Given the description of an element on the screen output the (x, y) to click on. 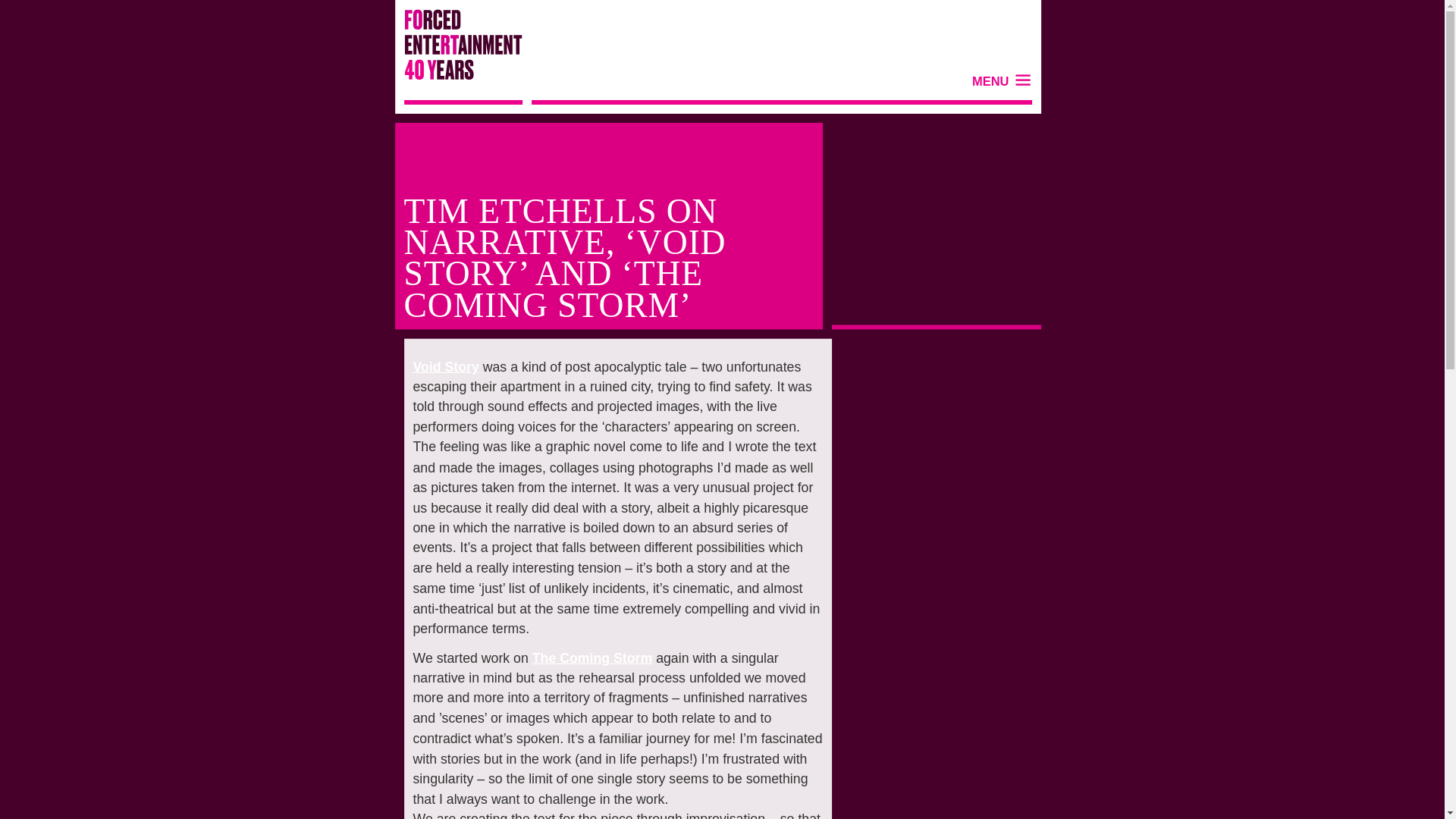
The Coming Storm (581, 656)
Void Story (439, 365)
Void Story (439, 365)
Forced Entertainment (452, 48)
The Coming Storm (581, 656)
